Given the description of an element on the screen output the (x, y) to click on. 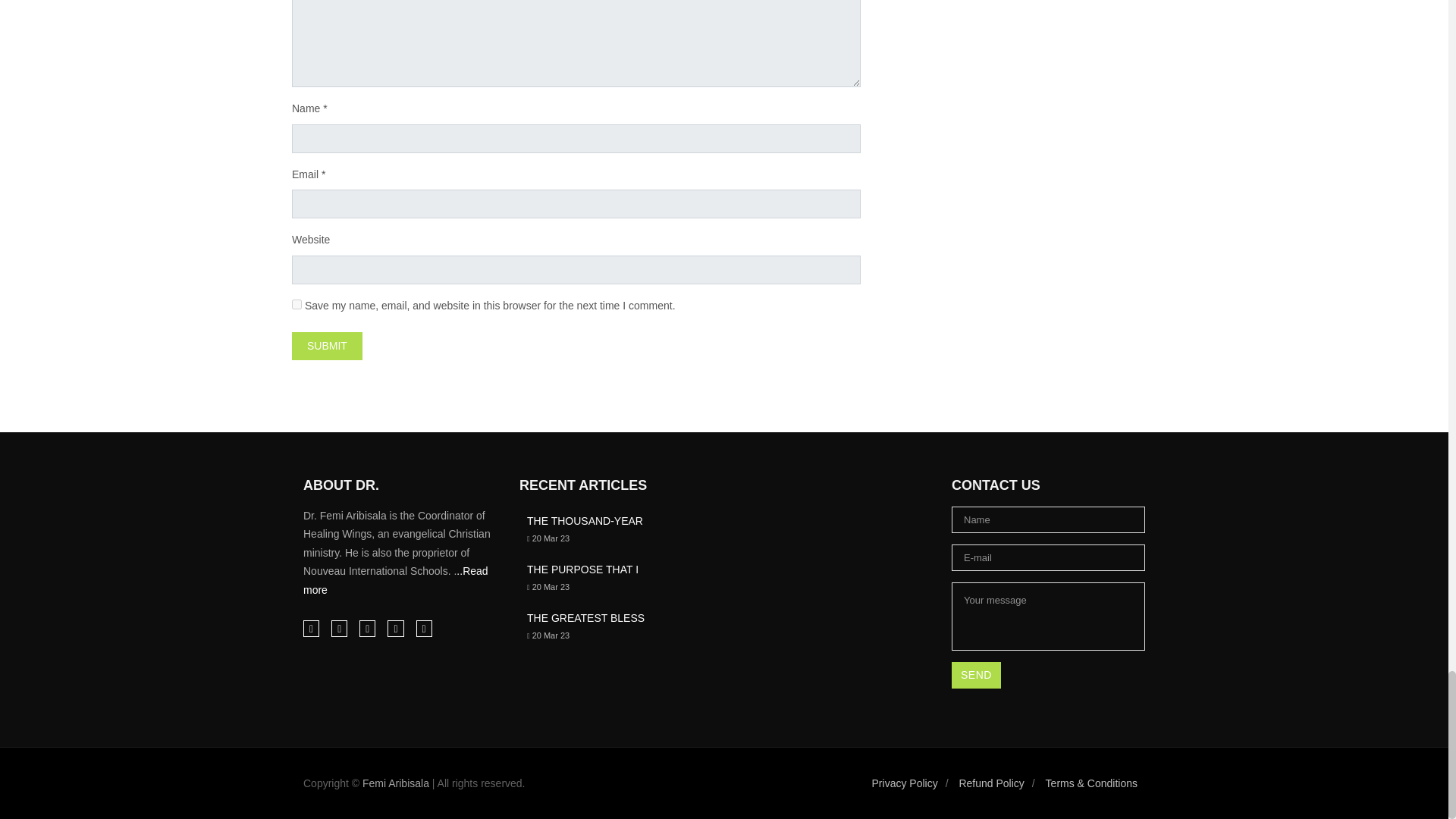
yes (296, 304)
LinkedIn (367, 628)
Facebook (310, 628)
Send (976, 675)
Youtube (422, 628)
Submit (327, 346)
Instagram (339, 628)
Twitter (395, 628)
